Given the description of an element on the screen output the (x, y) to click on. 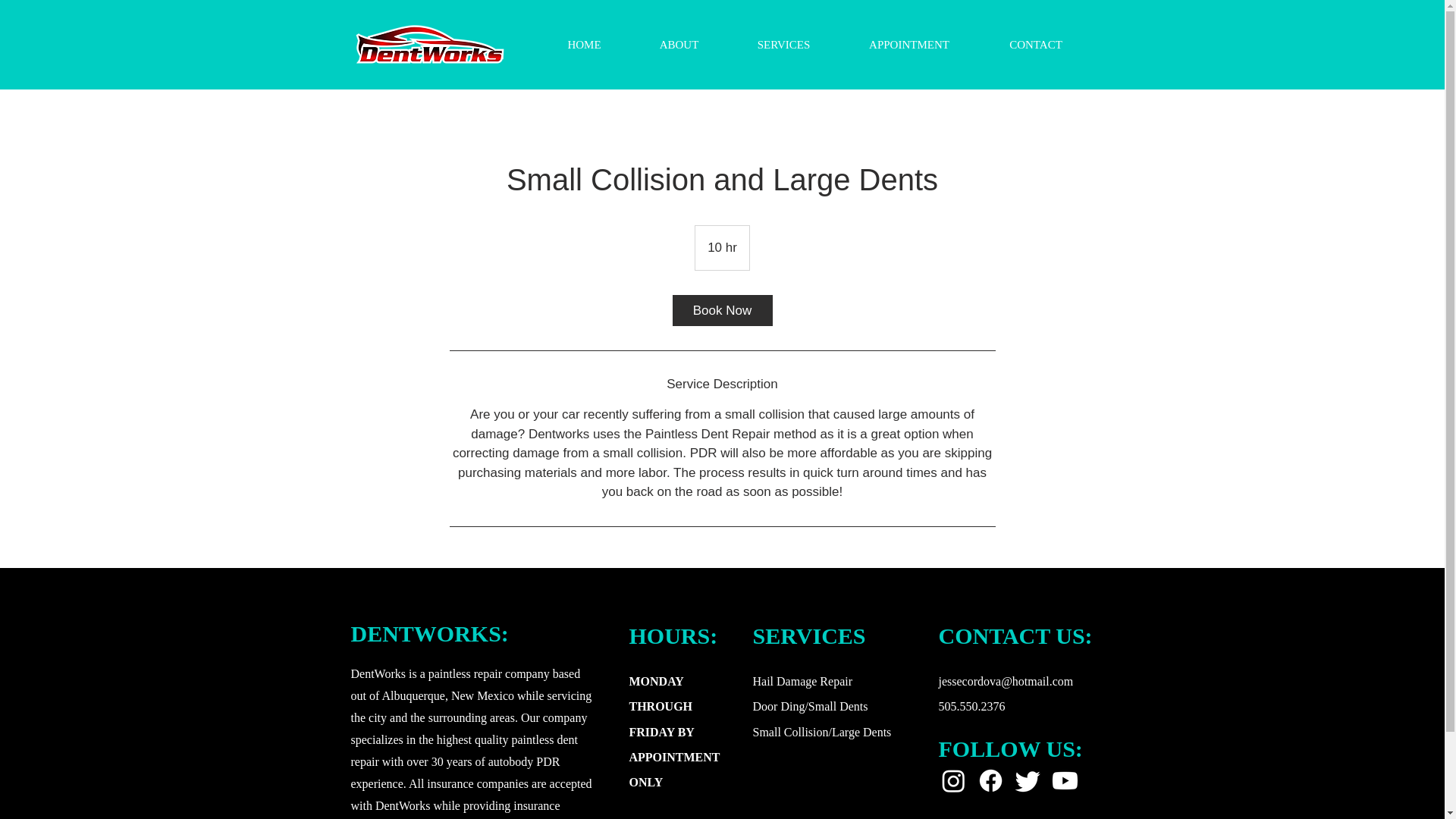
ABOUT (678, 45)
CONTACT (1036, 45)
SERVICES (783, 45)
Book Now (721, 309)
HOME (583, 45)
APPOINTMENT (908, 45)
